Given the description of an element on the screen output the (x, y) to click on. 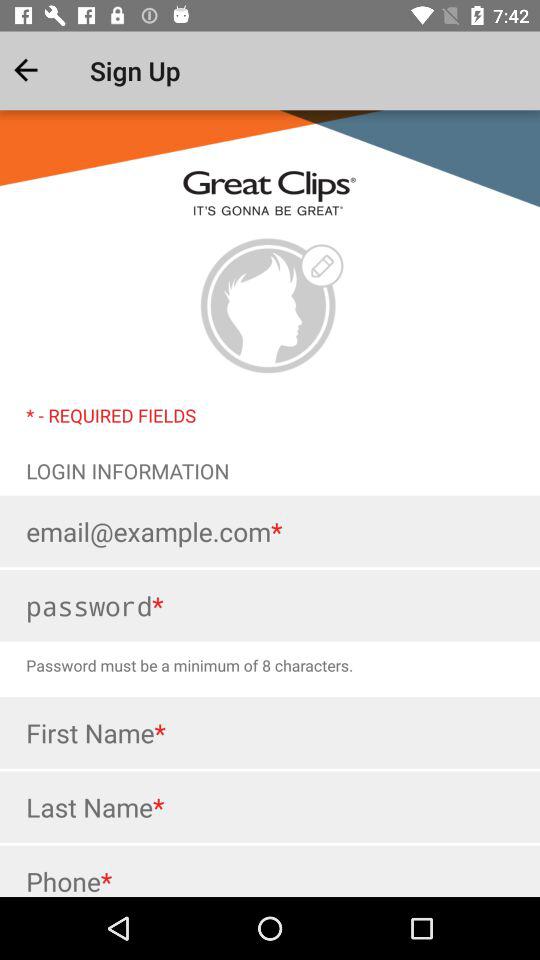
clique aqui para adicionar sua foto (269, 305)
